Given the description of an element on the screen output the (x, y) to click on. 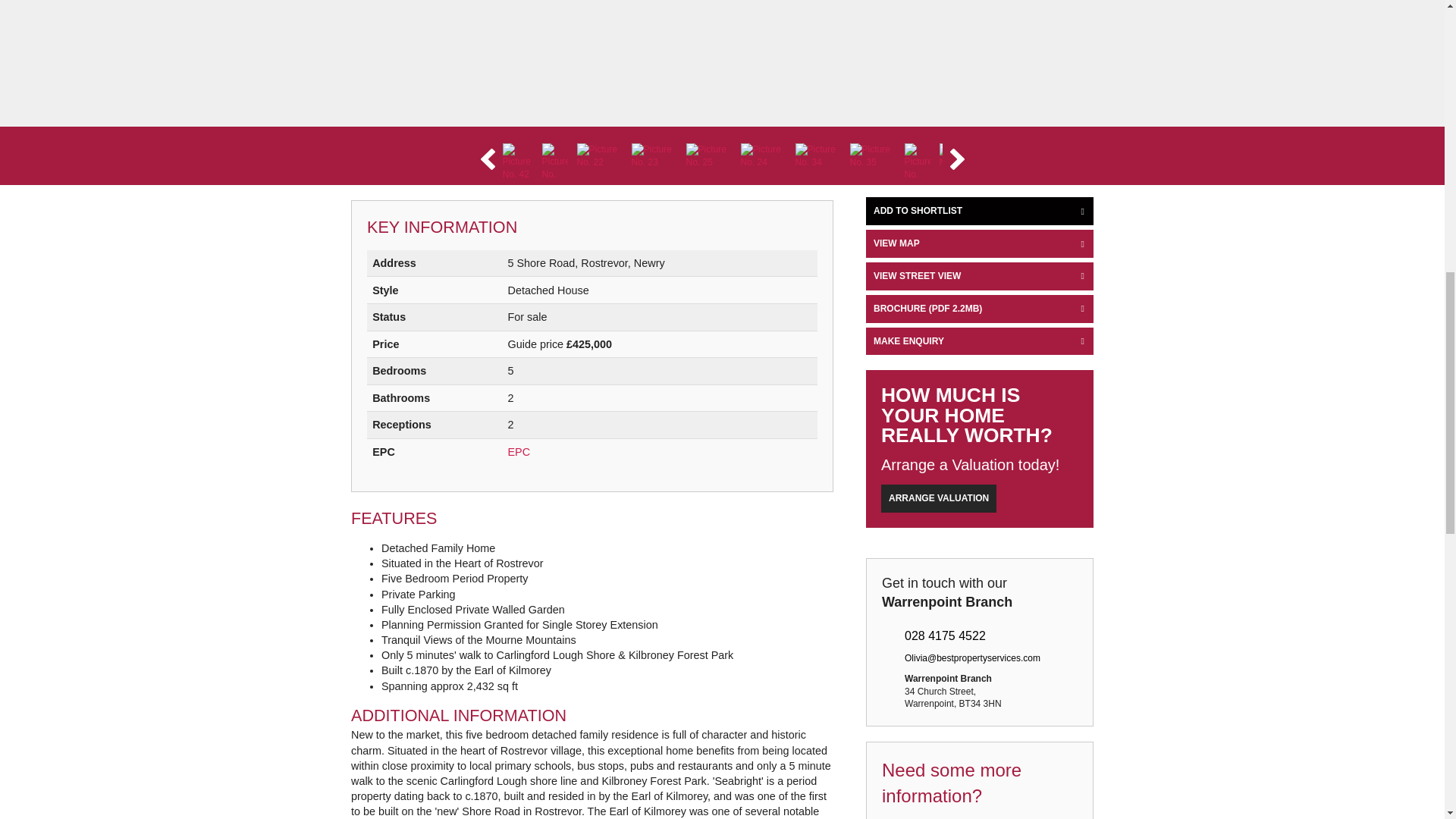
Picture No. 32 (961, 160)
Picture No. 24 (762, 160)
Picture No. 34 (817, 160)
Picture No. 25 (707, 160)
Picture No. 22 (598, 160)
Picture No. 35 (871, 160)
Picture No. 23 (653, 160)
